Given the description of an element on the screen output the (x, y) to click on. 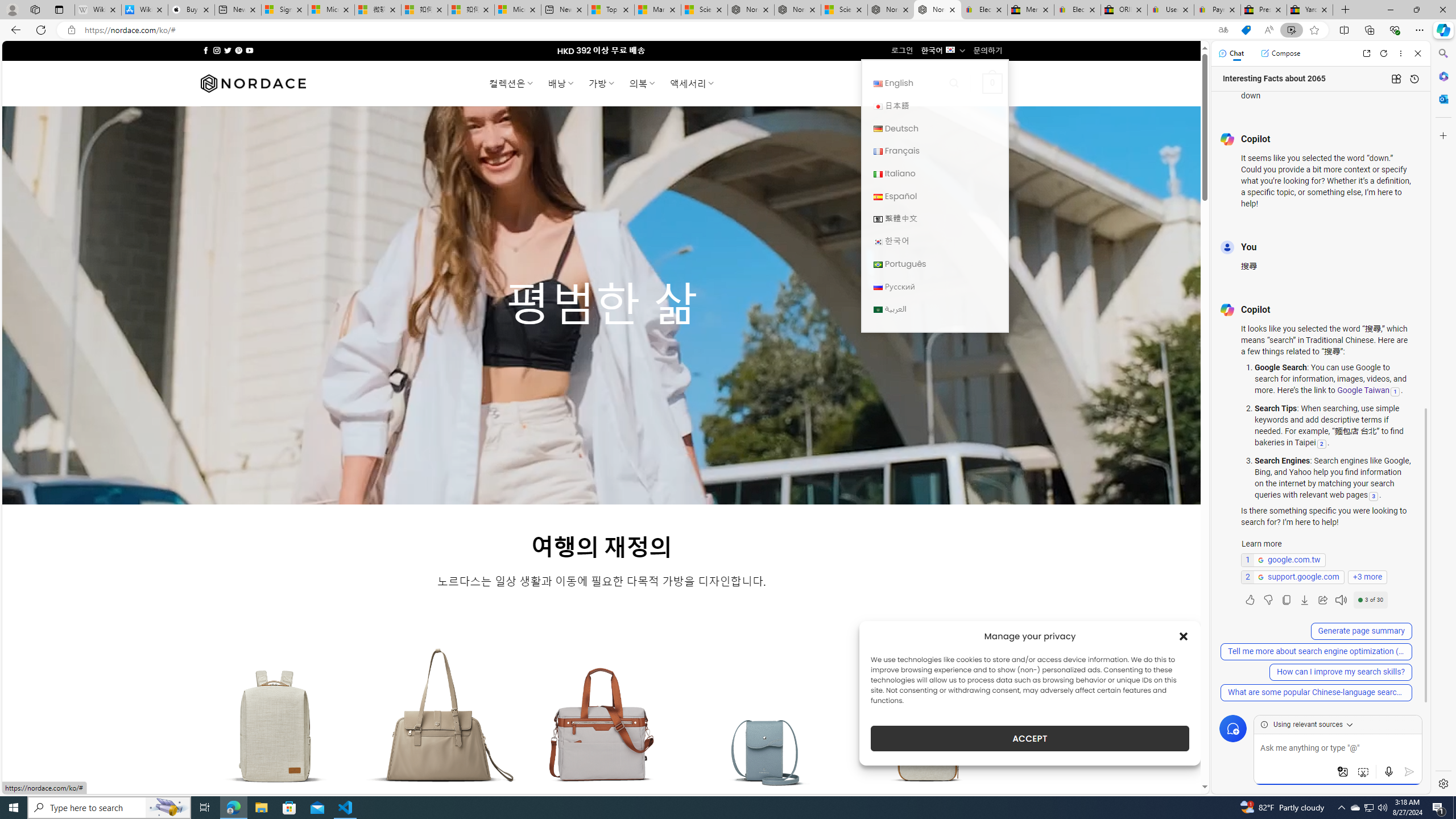
Follow on Instagram (216, 50)
